Given the description of an element on the screen output the (x, y) to click on. 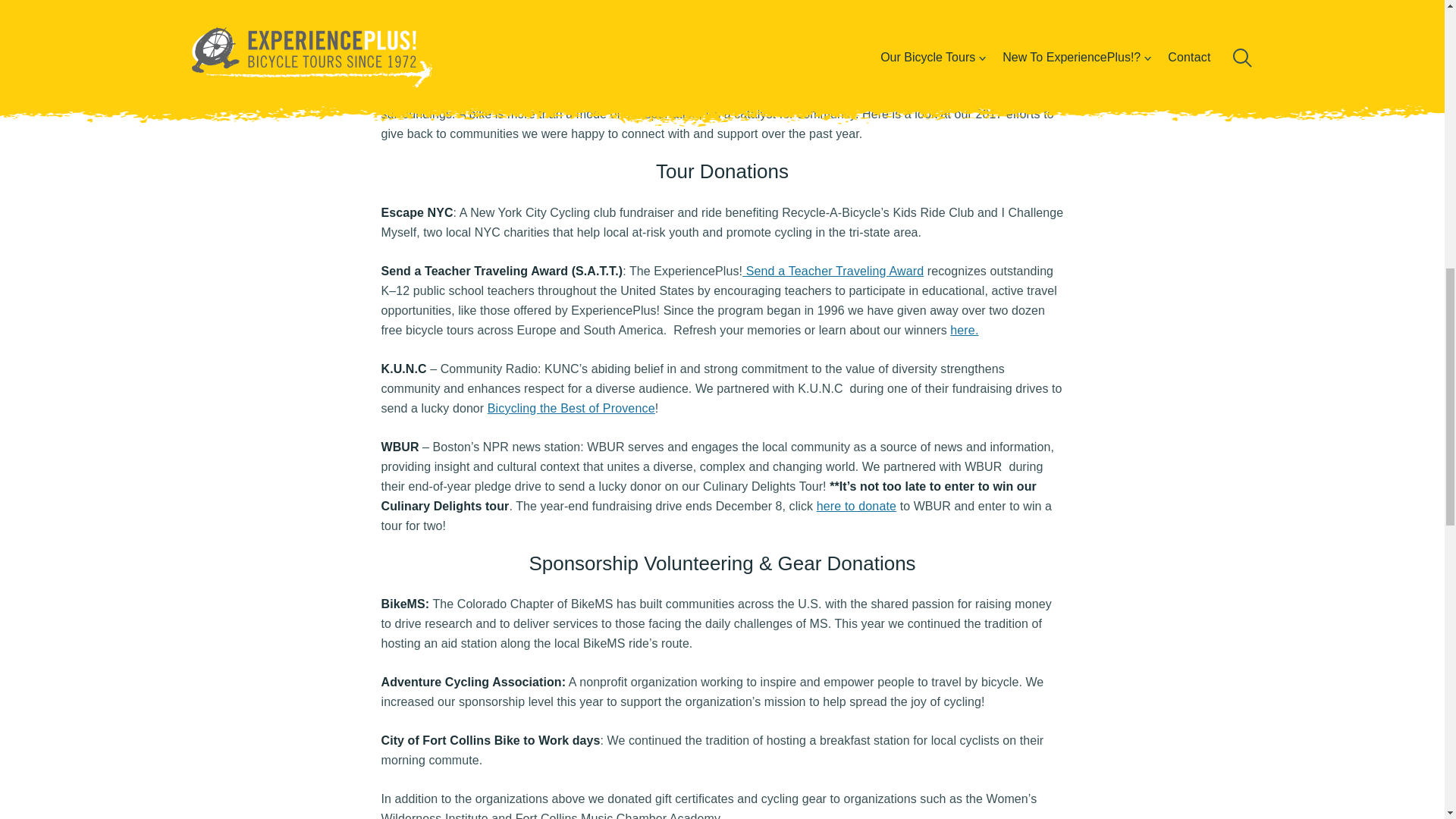
Send a Teacher Traveling Award (832, 270)
Bicycling the Best of Provence (571, 408)
here to donate (856, 505)
here. (964, 329)
